Given the description of an element on the screen output the (x, y) to click on. 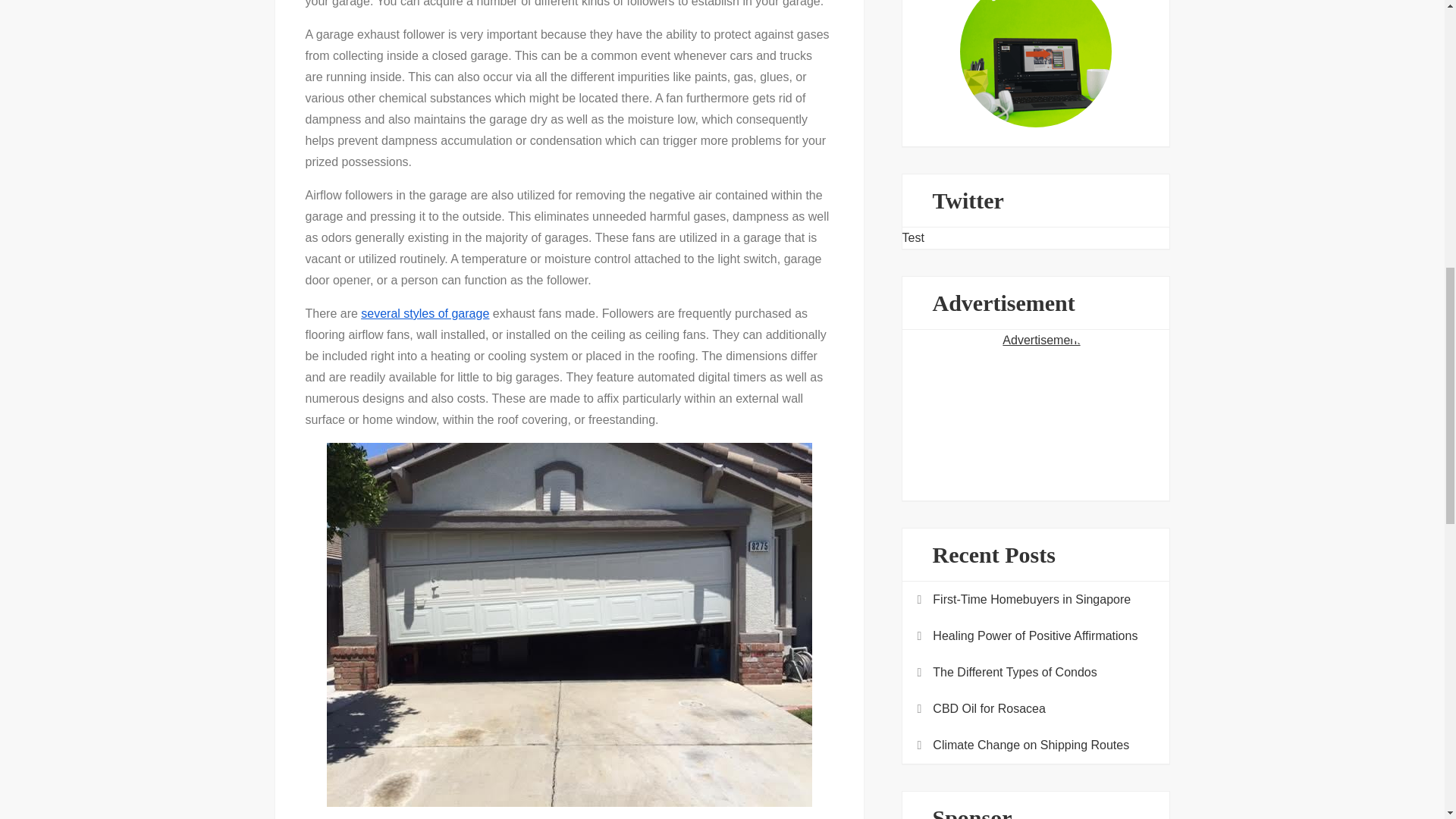
First-Time Homebuyers in Singapore (1032, 599)
Test (913, 237)
The Different Types of Condos (1014, 672)
Healing Power of Positive Affirmations (1035, 636)
Climate Change on Shipping Routes (1031, 744)
CBD Oil for Rosacea (989, 708)
several styles of garage (425, 313)
